Given the description of an element on the screen output the (x, y) to click on. 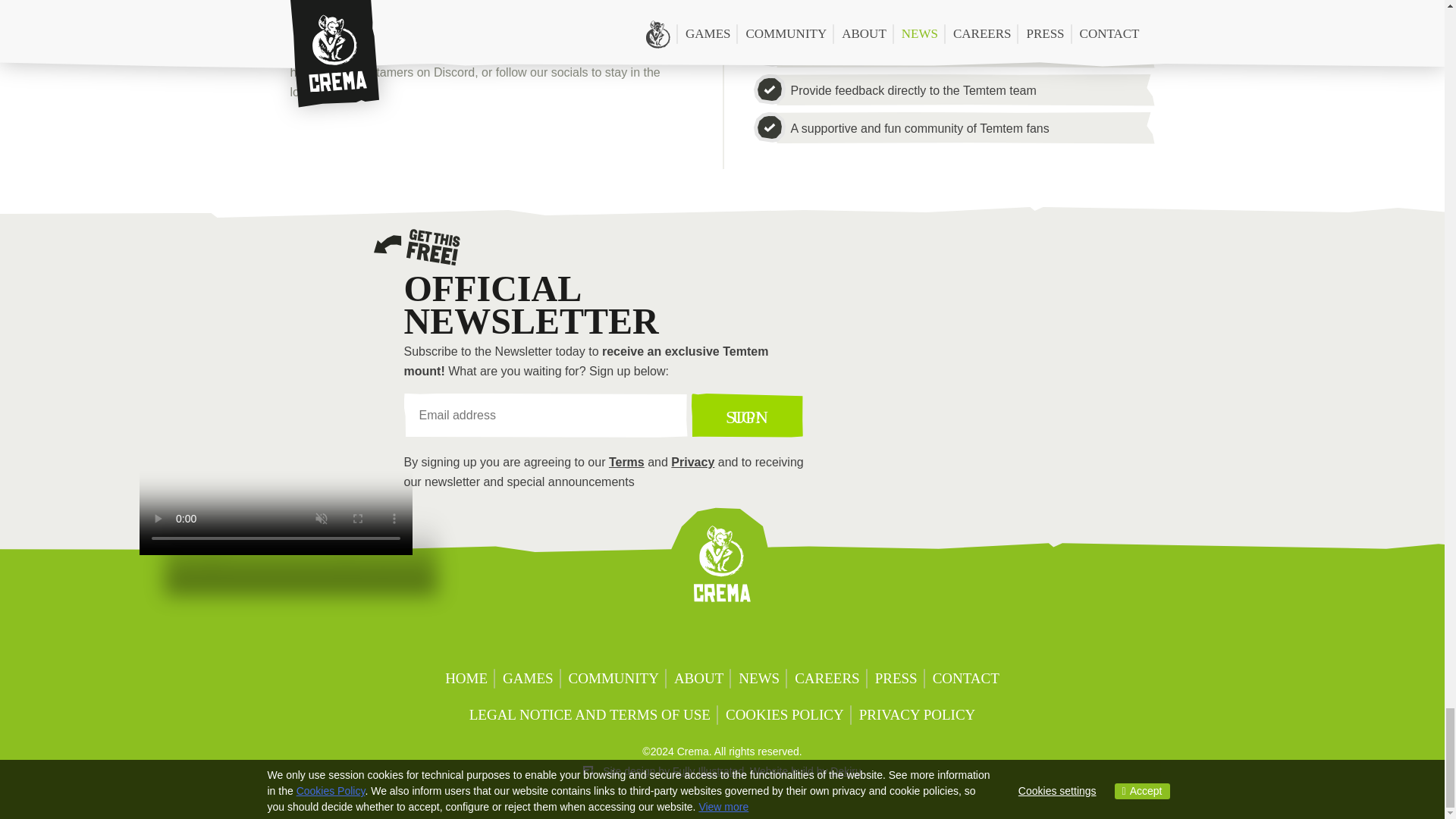
COMMUNITY (613, 679)
Steam (431, 141)
Terms (626, 461)
Steam (702, 636)
SIGN UP! (747, 415)
Instagram (820, 636)
Facebook (492, 141)
YouTube (553, 141)
PRESS (895, 679)
CAREERS (827, 679)
HOME (466, 679)
Facebook (741, 636)
Instagram (613, 141)
ABOUT (698, 679)
